Given the description of an element on the screen output the (x, y) to click on. 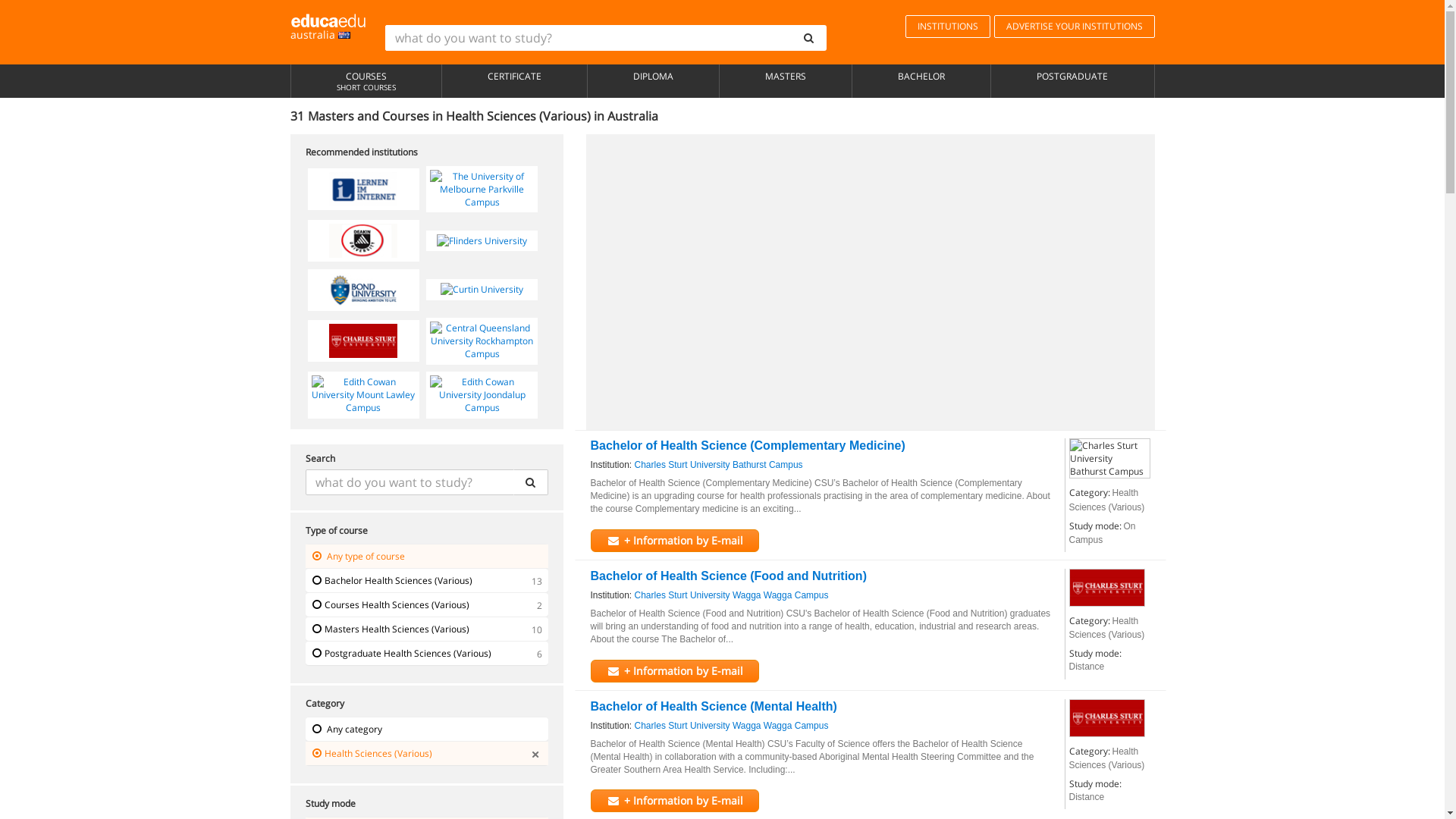
INSTITUTIONS Element type: text (947, 26)
Bachelor of Health Science (Complementary Medicine) Element type: text (746, 445)
Any category Element type: text (425, 728)
POSTGRADUATE Element type: text (1072, 80)
MASTERS Element type: text (785, 80)
COURSES
SHORT COURSES Element type: text (366, 80)
CERTIFICATE Element type: text (514, 80)
Bachelor of Health Science (Mental Health) Element type: text (712, 706)
Masters Health Sciences (Various) Element type: text (425, 628)
Charles Sturt University Wagga Wagga Campus Element type: hover (1107, 587)
Health Sciences (Various) Element type: text (425, 753)
Bachelor of Health Science (Food and Nutrition) Element type: text (727, 575)
Charles Sturt University Wagga Wagga Campus Element type: text (731, 595)
Any type of course Element type: text (425, 555)
australia Element type: text (328, 26)
Charles Sturt University Wagga Wagga Campus Element type: text (731, 725)
Courses Health Sciences (Various) Element type: text (425, 604)
Charles Sturt University Bathurst Campus Element type: hover (1109, 458)
Bachelor Health Sciences (Various) Element type: text (425, 580)
ADVERTISE YOUR INSTITUTIONS Element type: text (1073, 26)
Charles Sturt University Wagga Wagga Campus Element type: hover (1107, 718)
BACHELOR Element type: text (921, 80)
Charles Sturt University Bathurst Campus Element type: text (718, 464)
Postgraduate Health Sciences (Various) Element type: text (425, 653)
DIPLOMA Element type: text (652, 80)
